Given the description of an element on the screen output the (x, y) to click on. 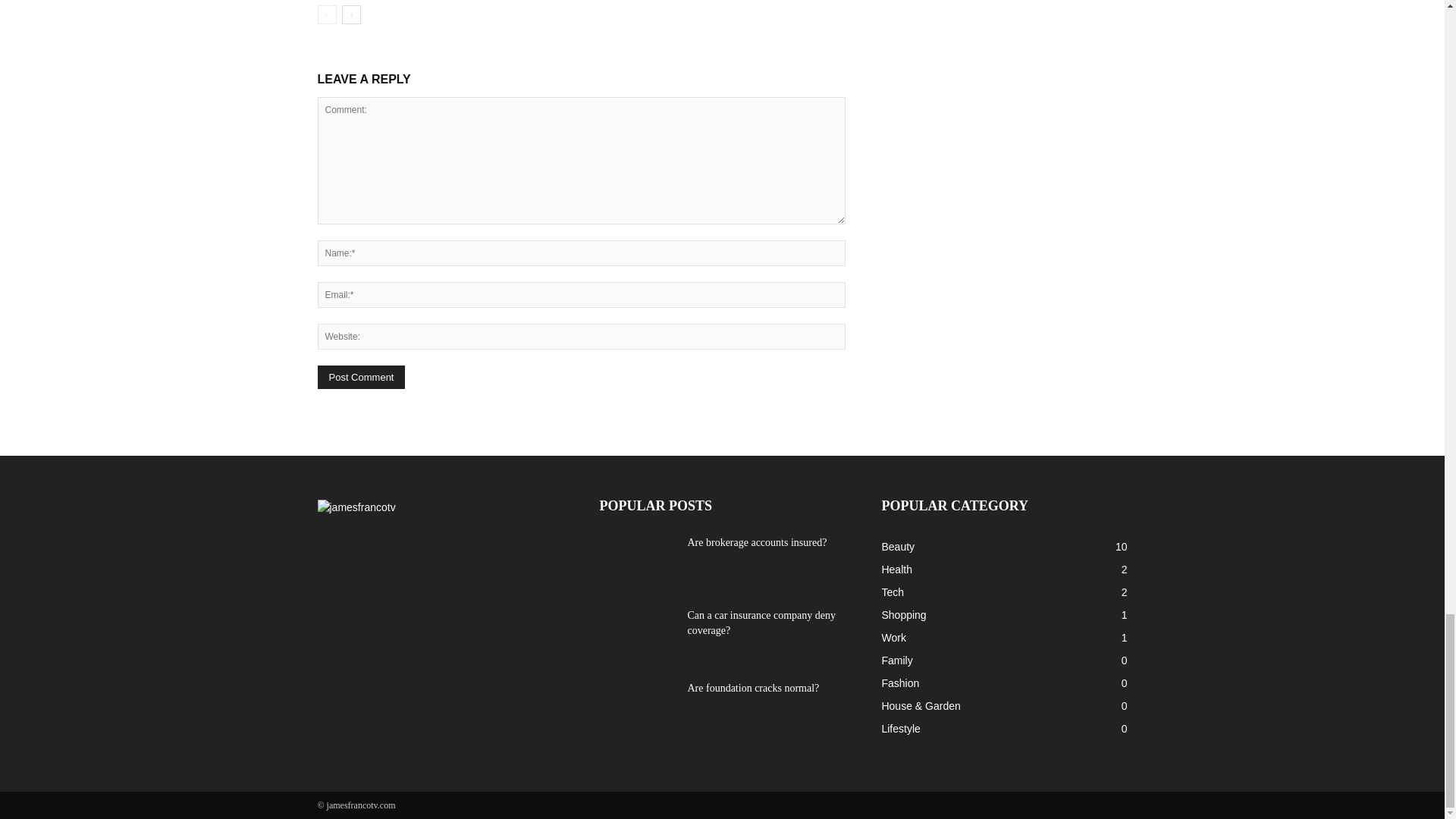
Post Comment (360, 377)
